Given the description of an element on the screen output the (x, y) to click on. 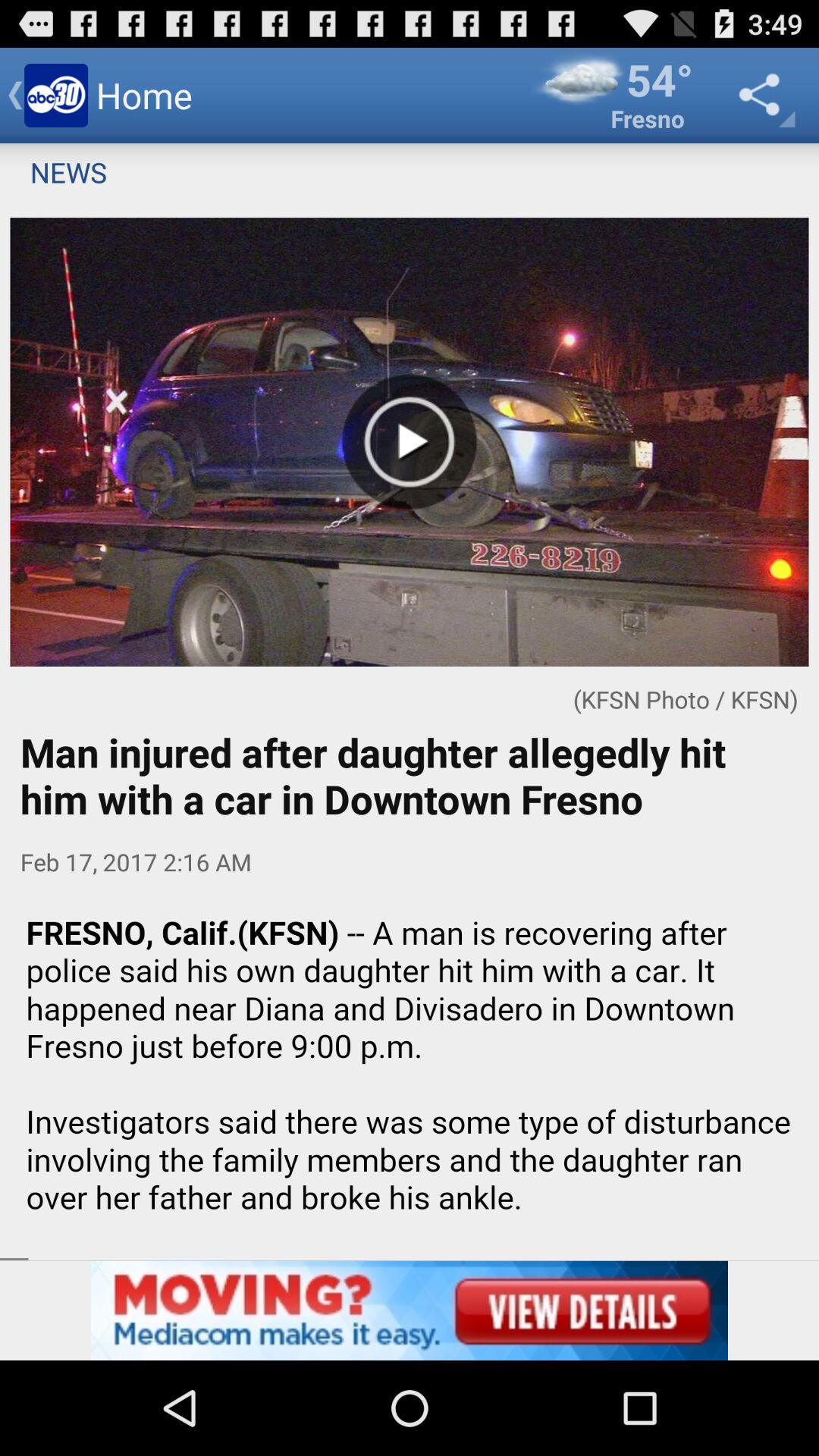
click on share button (763, 95)
click on the play button (409, 441)
click on the share button (763, 95)
select the text at the top right (612, 95)
